Given the description of an element on the screen output the (x, y) to click on. 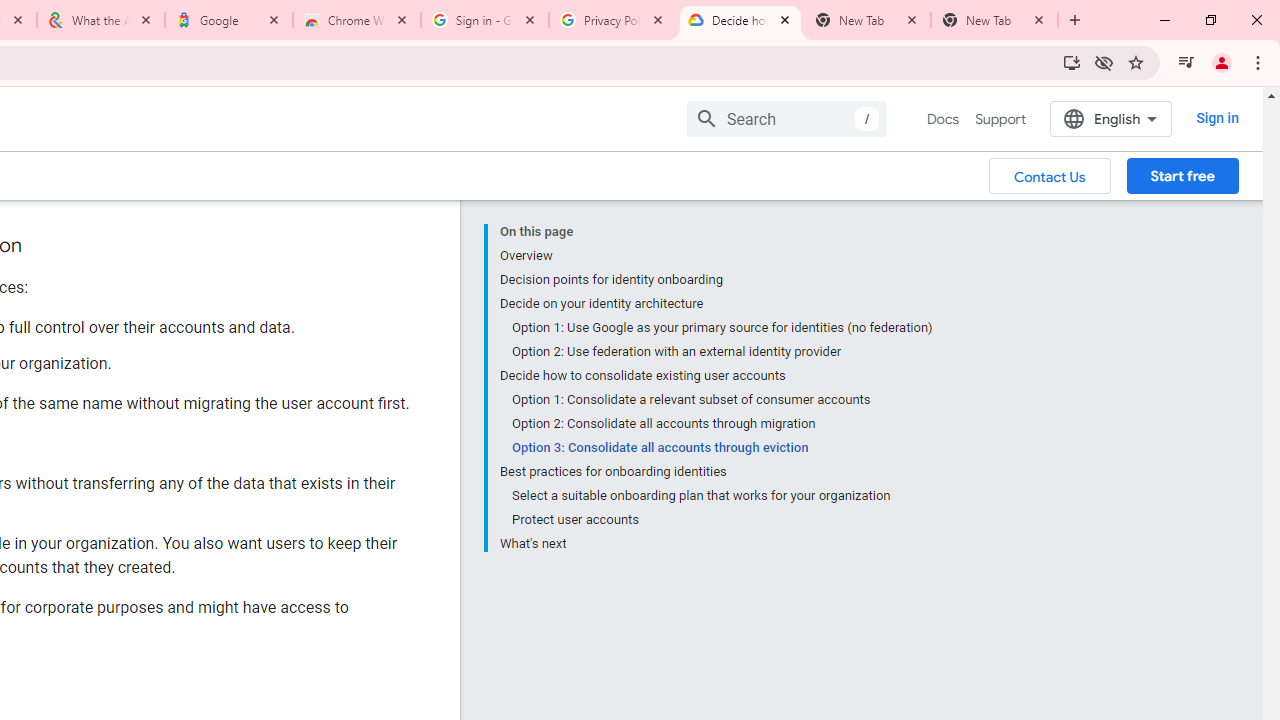
Chrome Web Store - Color themes by Chrome (357, 20)
Option 1: Consolidate a relevant subset of consumer accounts (721, 399)
Decision points for identity onboarding (716, 279)
Decide on your identity architecture (716, 304)
Install Google Cloud (1071, 62)
What's next (716, 542)
Sign in - Google Accounts (485, 20)
English (1110, 118)
Option 3: Consolidate all accounts through eviction (721, 448)
